Given the description of an element on the screen output the (x, y) to click on. 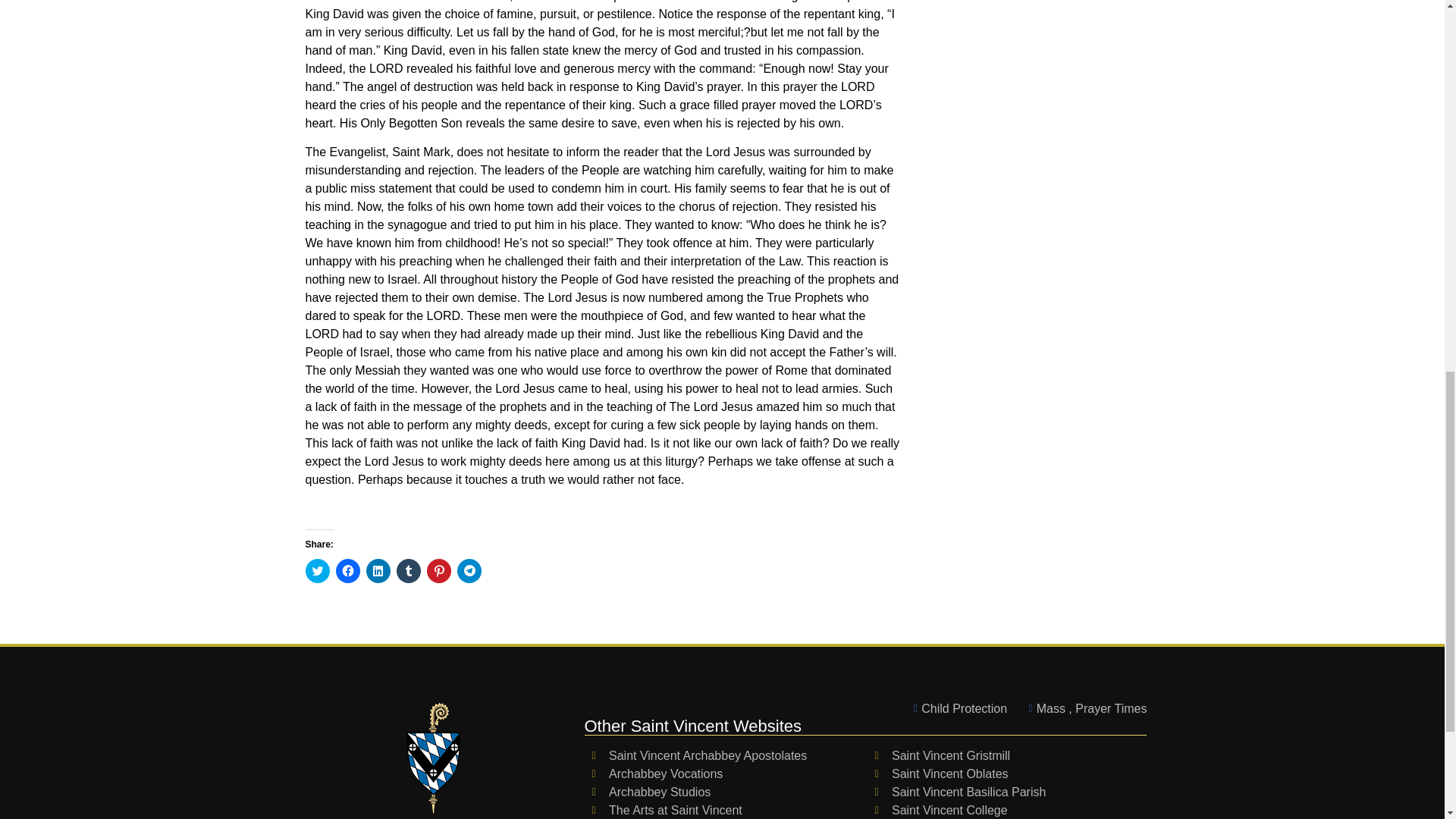
Click to share on Facebook (346, 570)
Mass , Prayer Times (1083, 709)
Click to share on Pinterest (437, 570)
Click to share on Twitter (316, 570)
Click to share on Telegram (468, 570)
Saint Vincent Archabbey Apostolates (725, 755)
Archabbey Vocations (725, 773)
Click to share on LinkedIn (377, 570)
Child Protection (955, 709)
Click to share on Tumblr (408, 570)
